Given the description of an element on the screen output the (x, y) to click on. 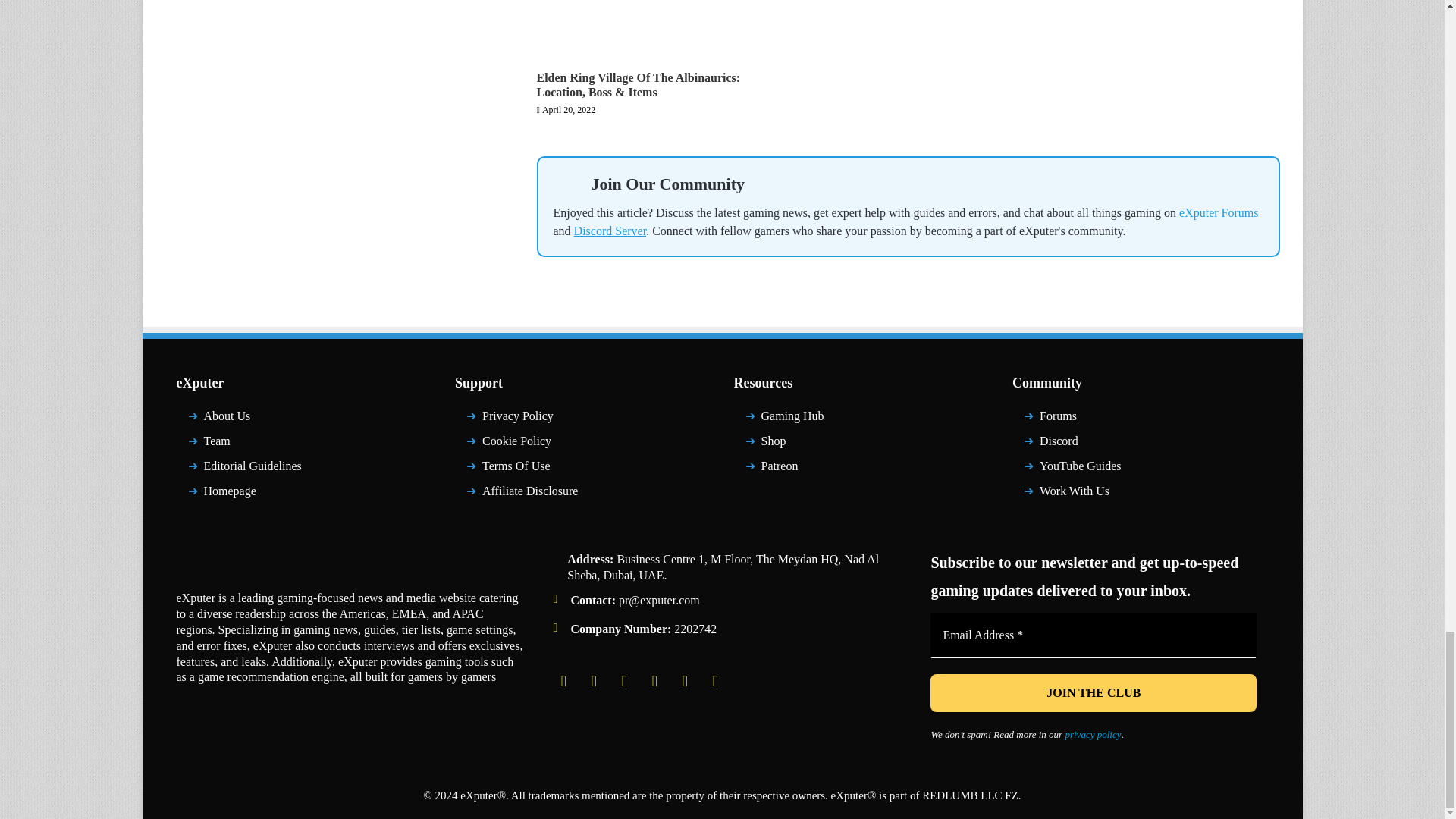
JOIN THE  CLUB (1093, 692)
Email Address (1093, 635)
